Given the description of an element on the screen output the (x, y) to click on. 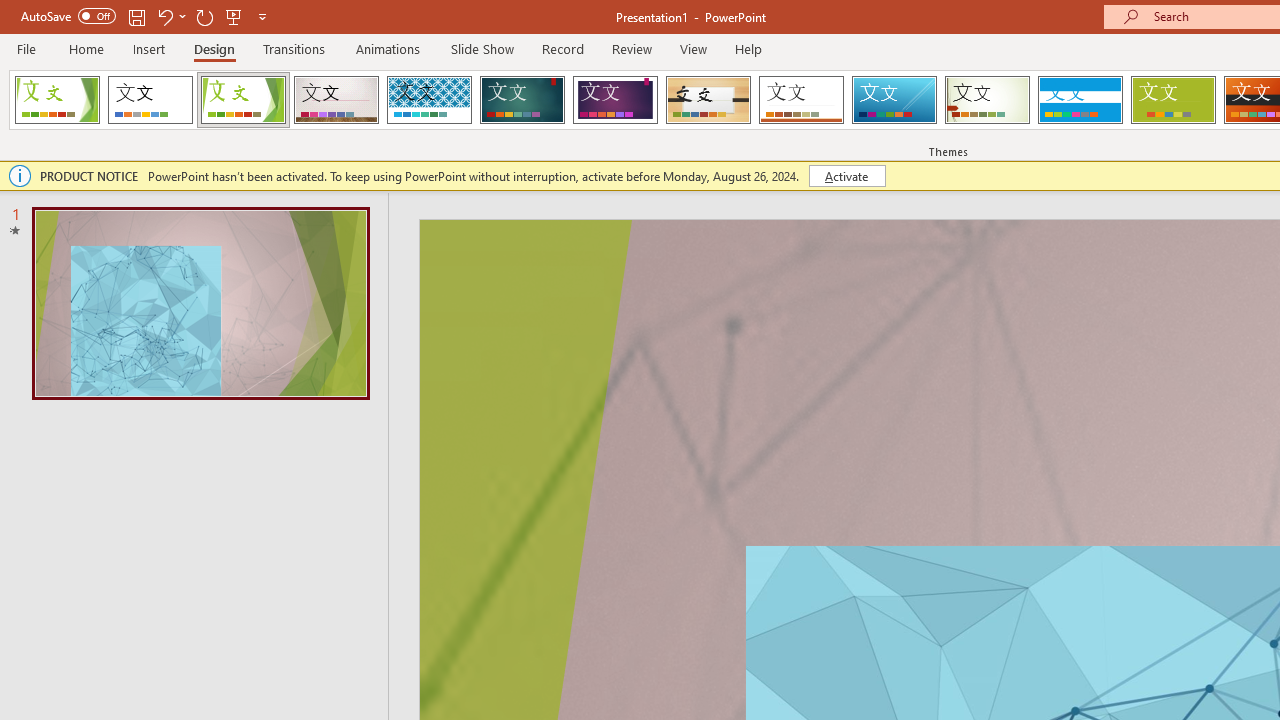
Wisp (987, 100)
Organic (708, 100)
Banded (1080, 100)
Facet (243, 100)
Office Theme (150, 100)
FadeVTI (57, 100)
Retrospect (801, 100)
